Given the description of an element on the screen output the (x, y) to click on. 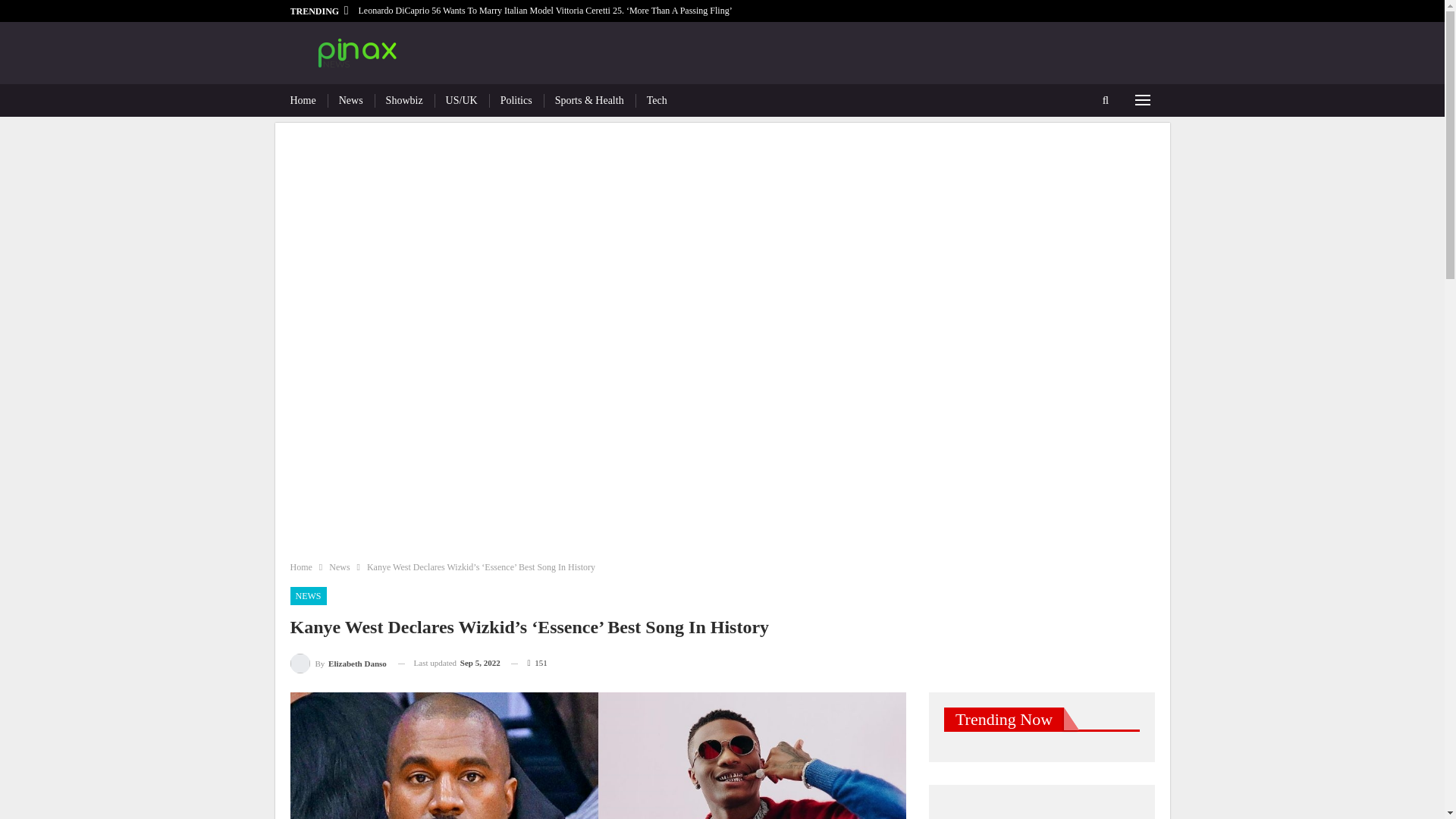
Showbiz (404, 100)
By Elizabeth Danso (337, 662)
News (339, 566)
NEWS (307, 596)
Browse Author Articles (337, 662)
Politics (516, 100)
Home (300, 566)
